Given the description of an element on the screen output the (x, y) to click on. 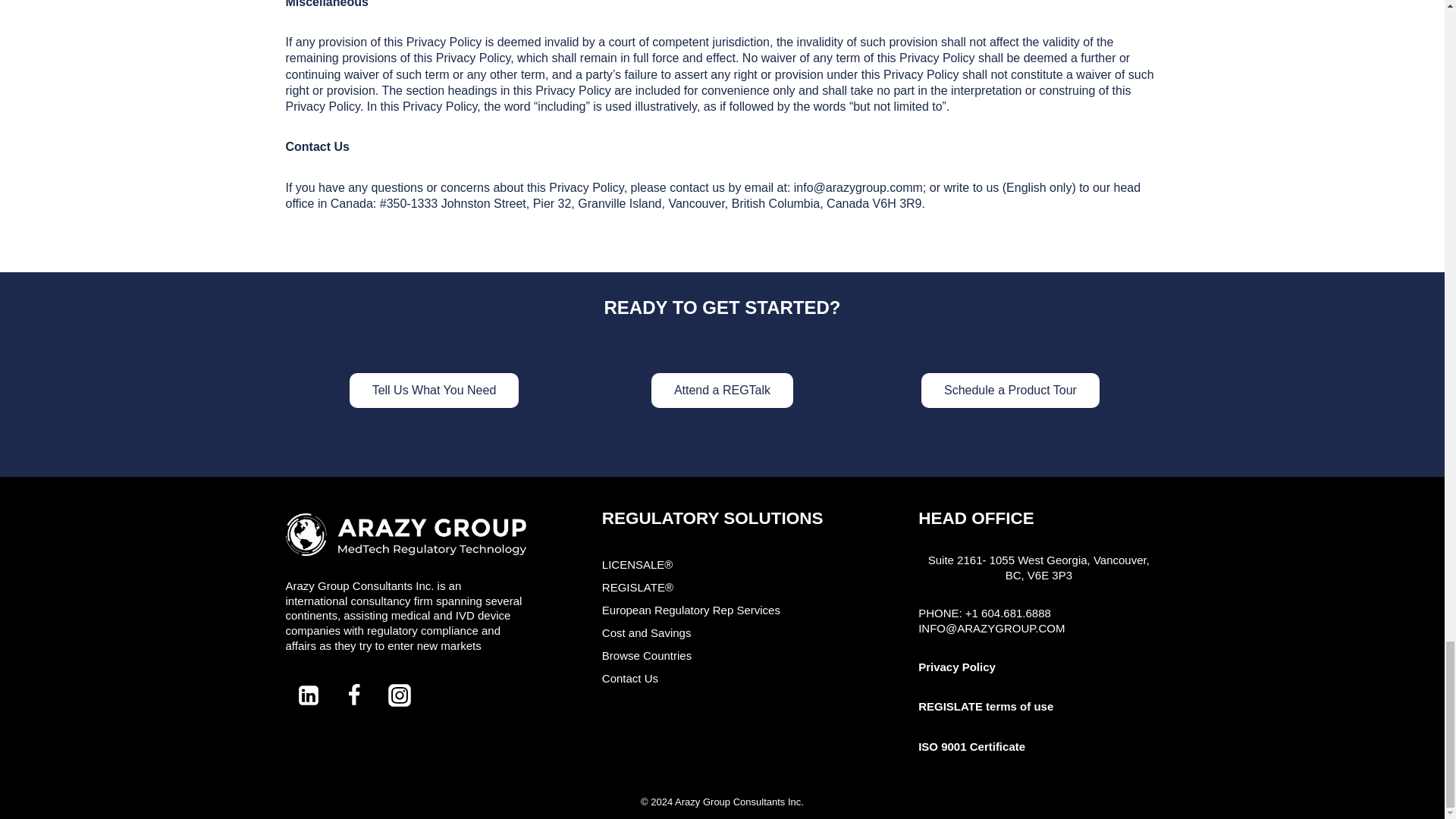
European Regulatory Rep Services (722, 609)
Attend a REGTalk (721, 390)
Schedule a Product Tour (1010, 390)
Cost and Savings (722, 631)
Tell Us What You Need (434, 390)
